Given the description of an element on the screen output the (x, y) to click on. 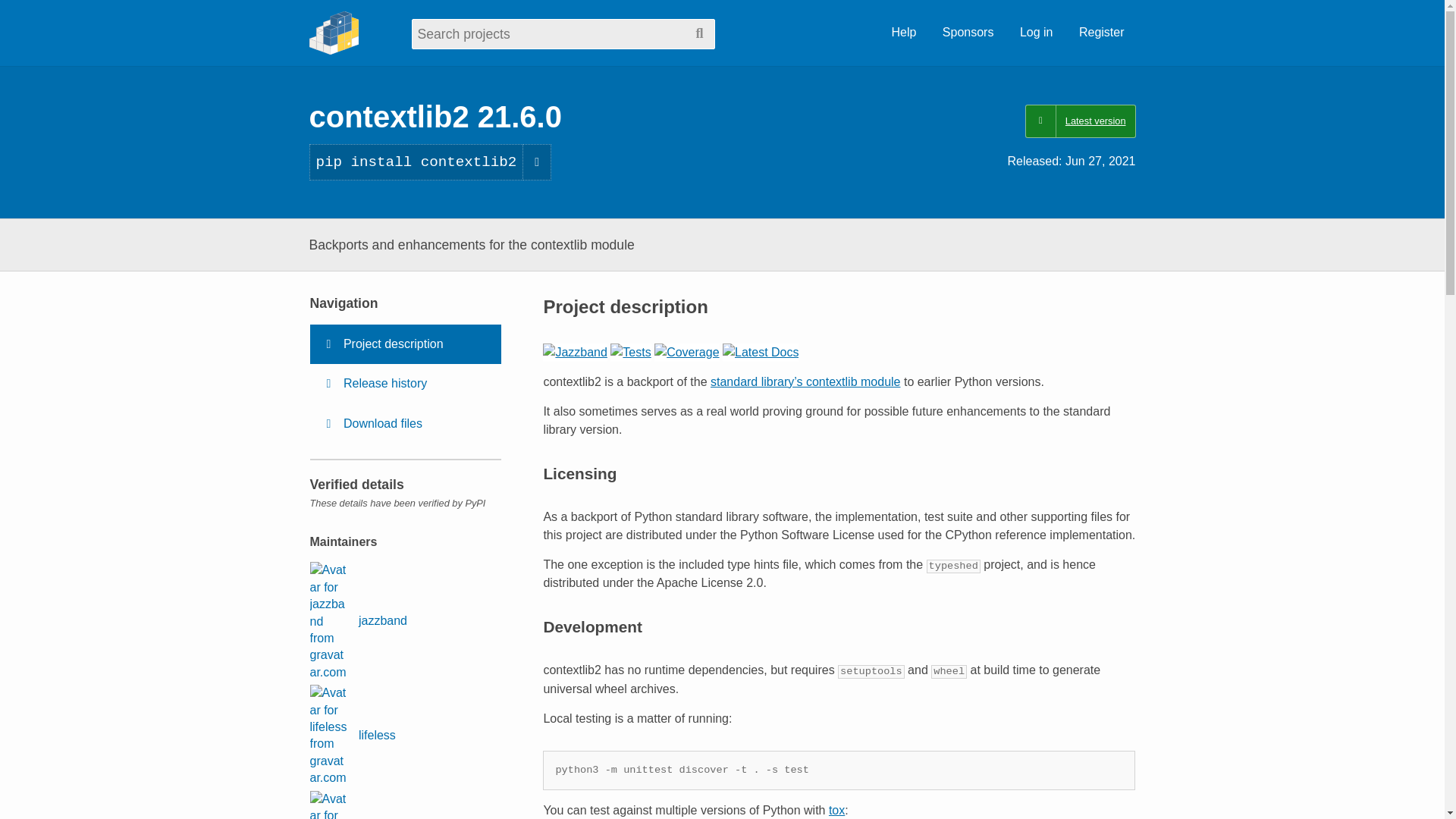
Sponsors (968, 32)
Release history (404, 383)
Avatar for ncoghlan from gravatar.com (327, 805)
Download files (404, 423)
Register (1101, 32)
Project description (404, 343)
Search (699, 33)
ncoghlan (357, 805)
Latest version (1080, 121)
